Given the description of an element on the screen output the (x, y) to click on. 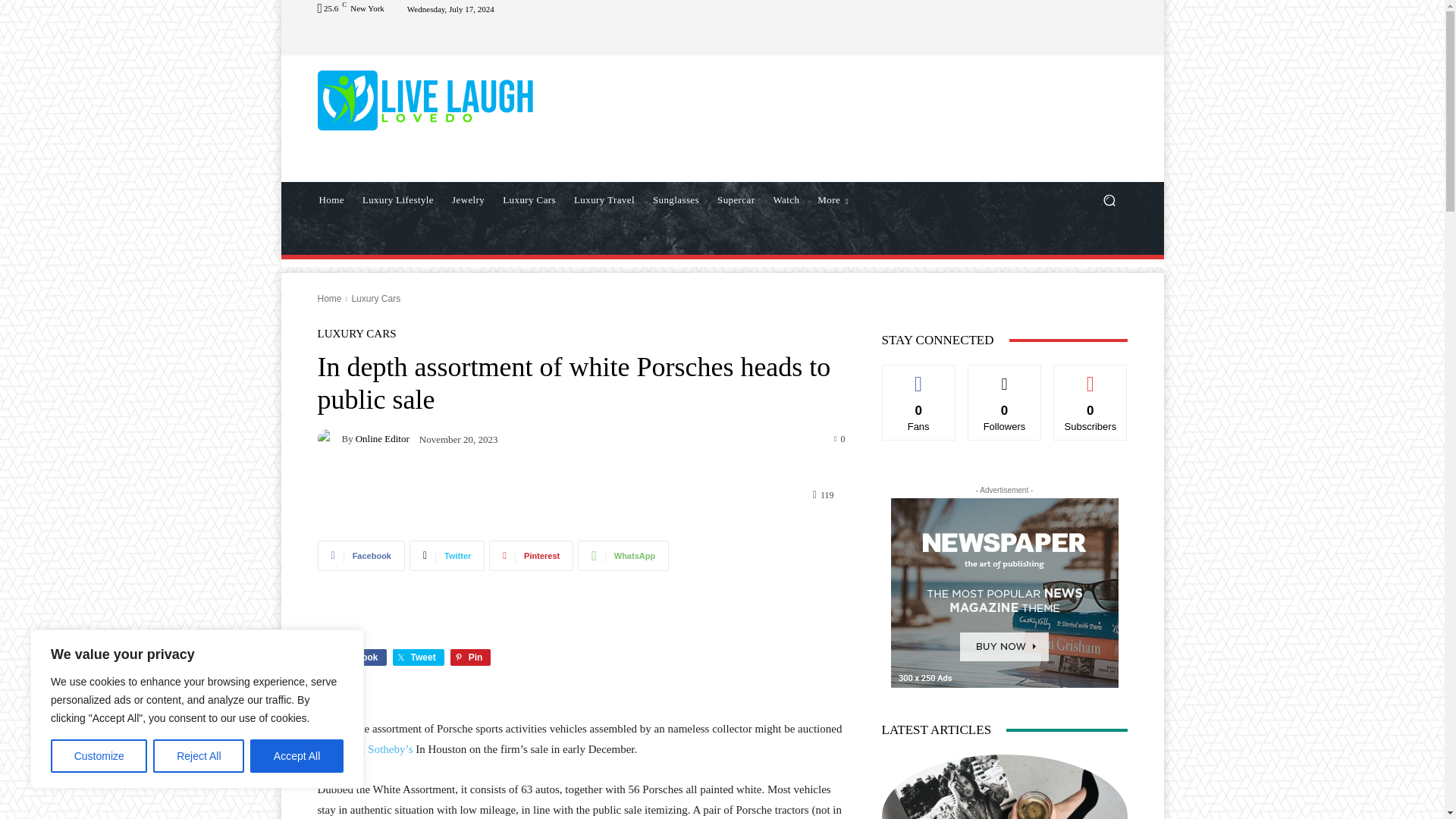
Luxury Travel (603, 199)
Watch (785, 199)
Twitter (446, 555)
Jewelry (467, 199)
Home (330, 199)
Luxury Lifestyle (397, 199)
Luxury Cars (528, 199)
Sunglasses (675, 199)
Pinterest (531, 555)
Reject All (198, 756)
Accept All (296, 756)
Facebook (360, 555)
WhatsApp (623, 555)
Supercar (734, 199)
Customize (98, 756)
